Given the description of an element on the screen output the (x, y) to click on. 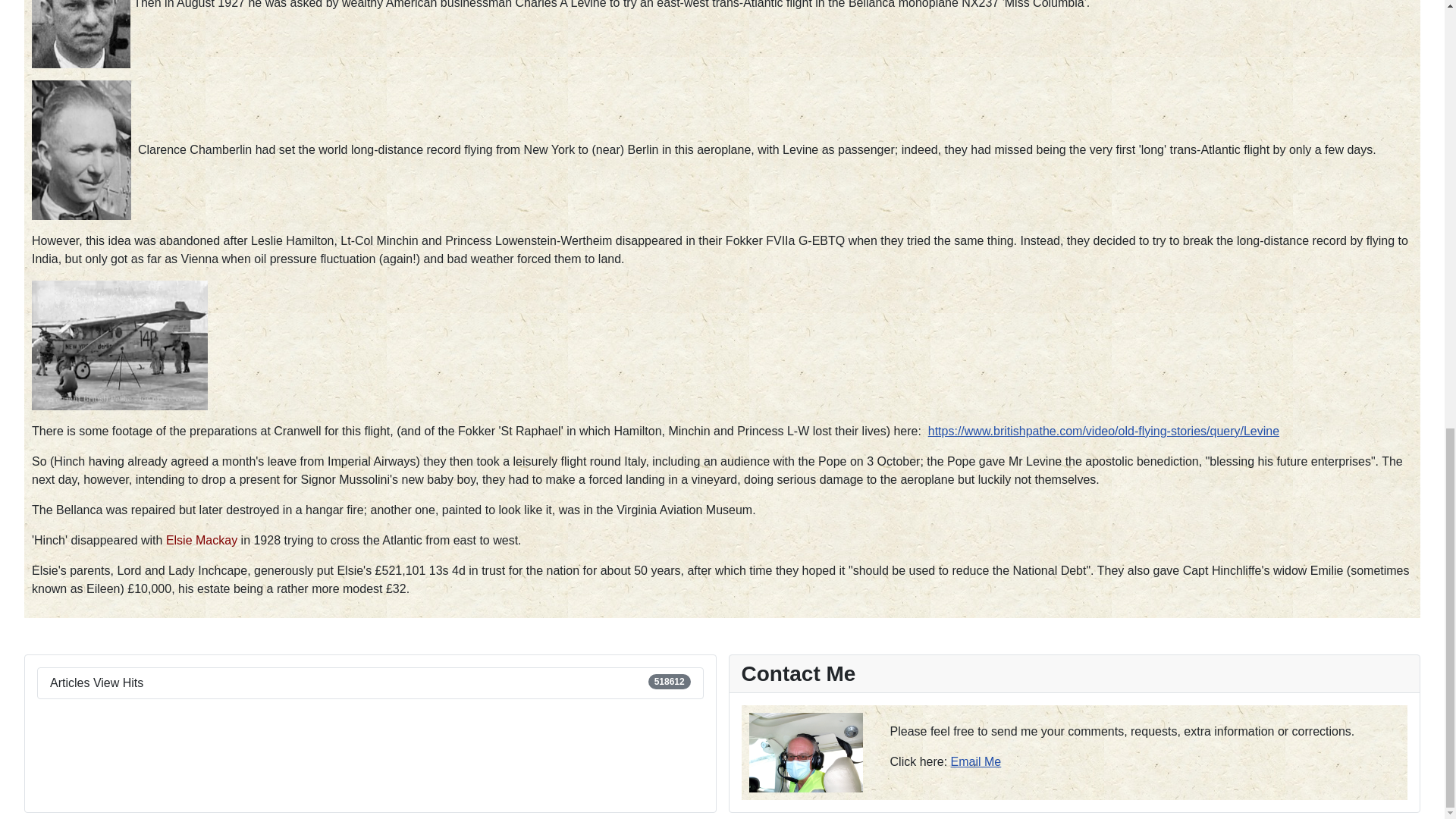
Email Me (975, 761)
